Given the description of an element on the screen output the (x, y) to click on. 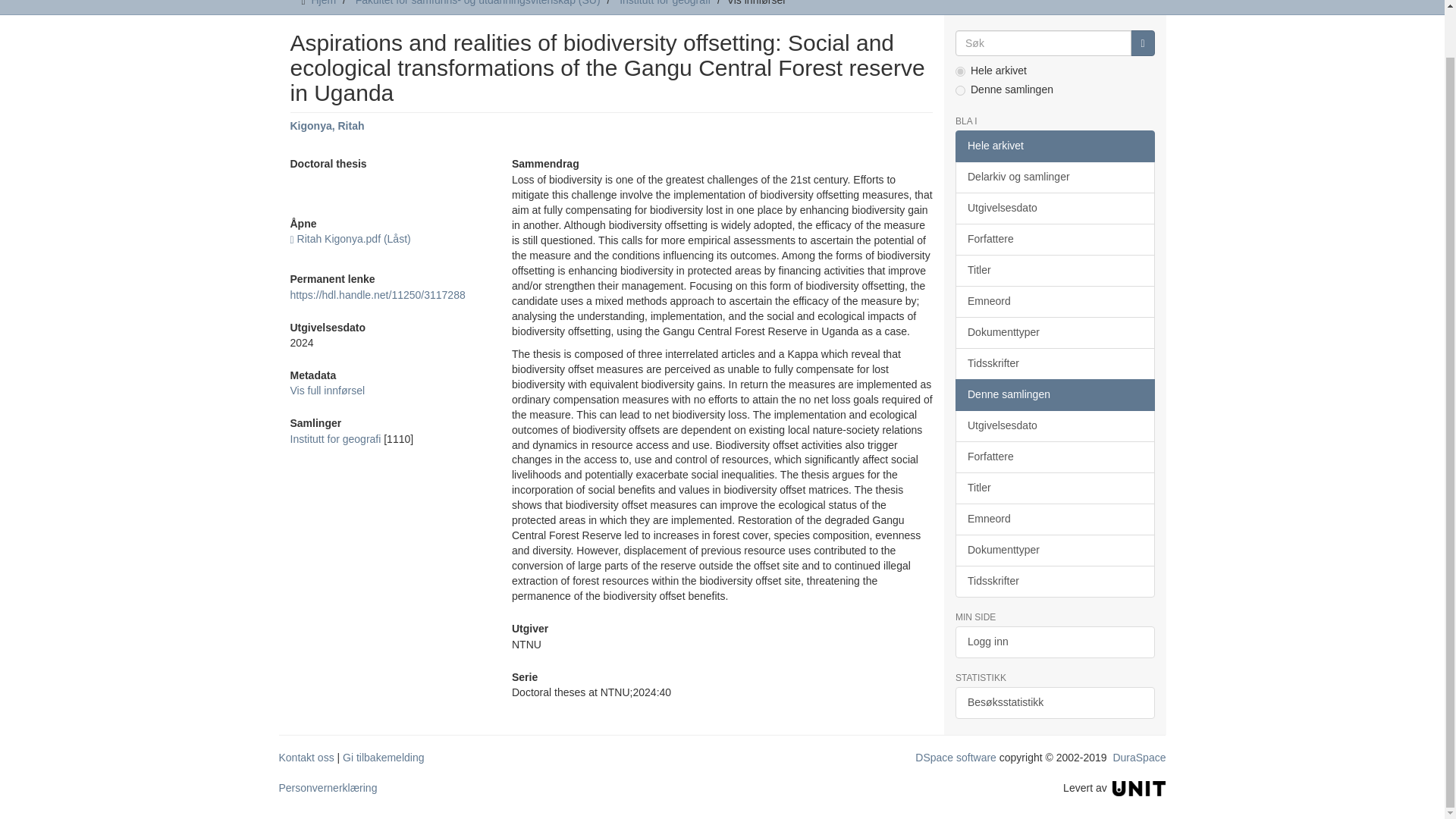
Hele arkivet (1054, 146)
Dokumenttyper (1054, 332)
Unit (1139, 787)
Delarkiv og samlinger (1054, 177)
Forfattere (1054, 239)
Utgivelsesdato (1054, 208)
Kigonya, Ritah (326, 125)
Tidsskrifter (1054, 364)
Institutt for geografi (665, 2)
Hjem (323, 2)
